Given the description of an element on the screen output the (x, y) to click on. 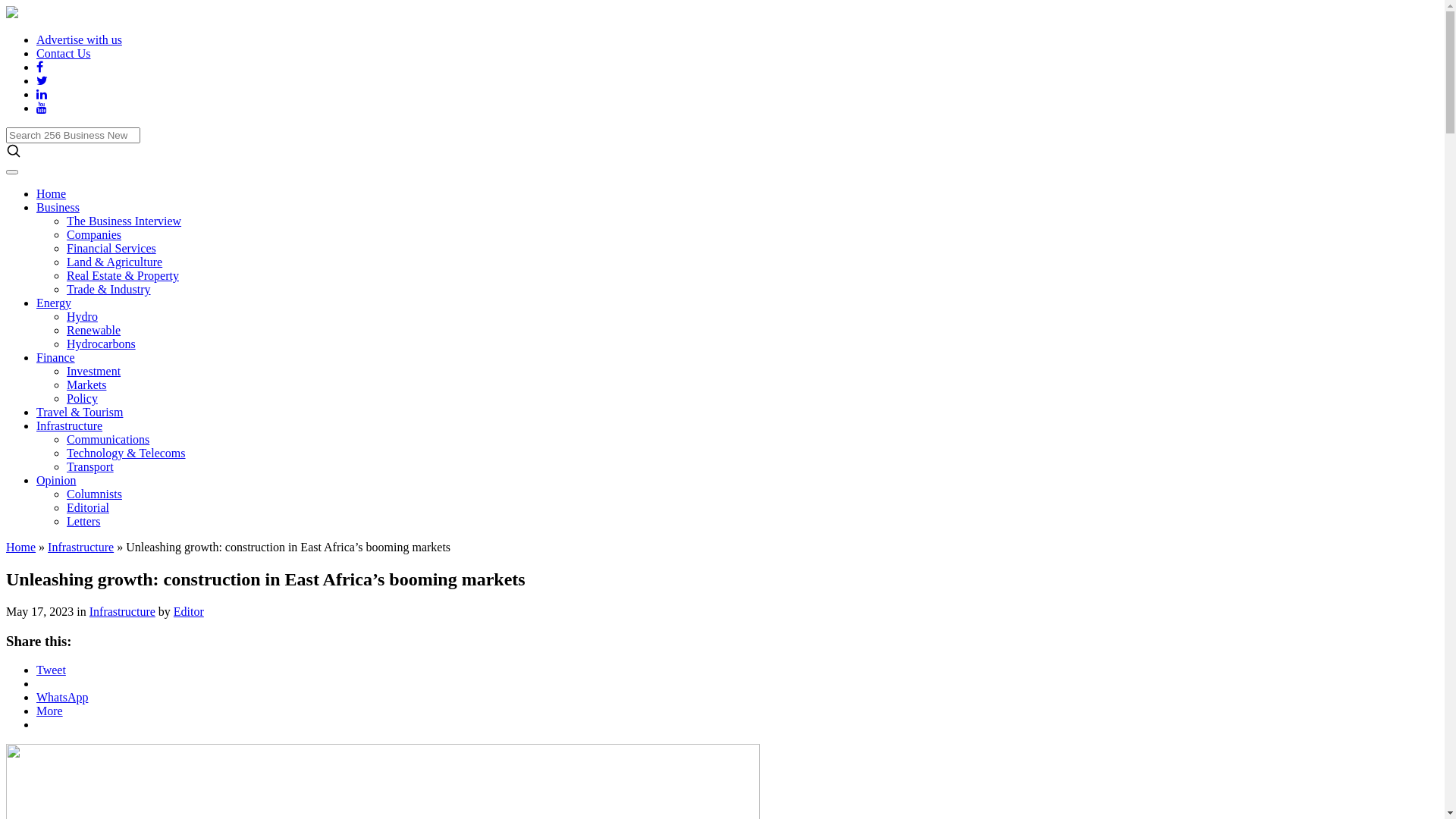
Opinion Element type: text (55, 479)
Transport Element type: text (89, 466)
Technology & Telecoms Element type: text (125, 452)
Trade & Industry Element type: text (108, 288)
Companies Element type: text (93, 234)
Communications Element type: text (107, 439)
Renewable Element type: text (93, 329)
Business Element type: text (57, 206)
Columnists Element type: text (94, 493)
Land & Agriculture Element type: text (114, 261)
Editor Element type: text (188, 611)
Editorial Element type: text (87, 507)
Search Element type: text (21, 7)
Home Element type: text (20, 546)
WhatsApp Element type: text (61, 696)
Letters Element type: text (83, 520)
Infrastructure Element type: text (122, 611)
Finance Element type: text (55, 357)
Tweet Element type: text (50, 669)
Policy Element type: text (81, 398)
Infrastructure Element type: text (69, 425)
Markets Element type: text (86, 384)
Energy Element type: text (53, 302)
Advertise with us Element type: text (79, 39)
Investment Element type: text (93, 370)
The Business Interview Element type: text (123, 220)
More Element type: text (49, 710)
Home Element type: text (50, 193)
Real Estate & Property Element type: text (122, 275)
Hydro Element type: text (81, 316)
Hydrocarbons Element type: text (100, 343)
Search Element type: hover (73, 135)
Contact Us Element type: text (63, 53)
Travel & Tourism Element type: text (79, 411)
Financial Services Element type: text (111, 247)
Infrastructure Element type: text (80, 546)
